Given the description of an element on the screen output the (x, y) to click on. 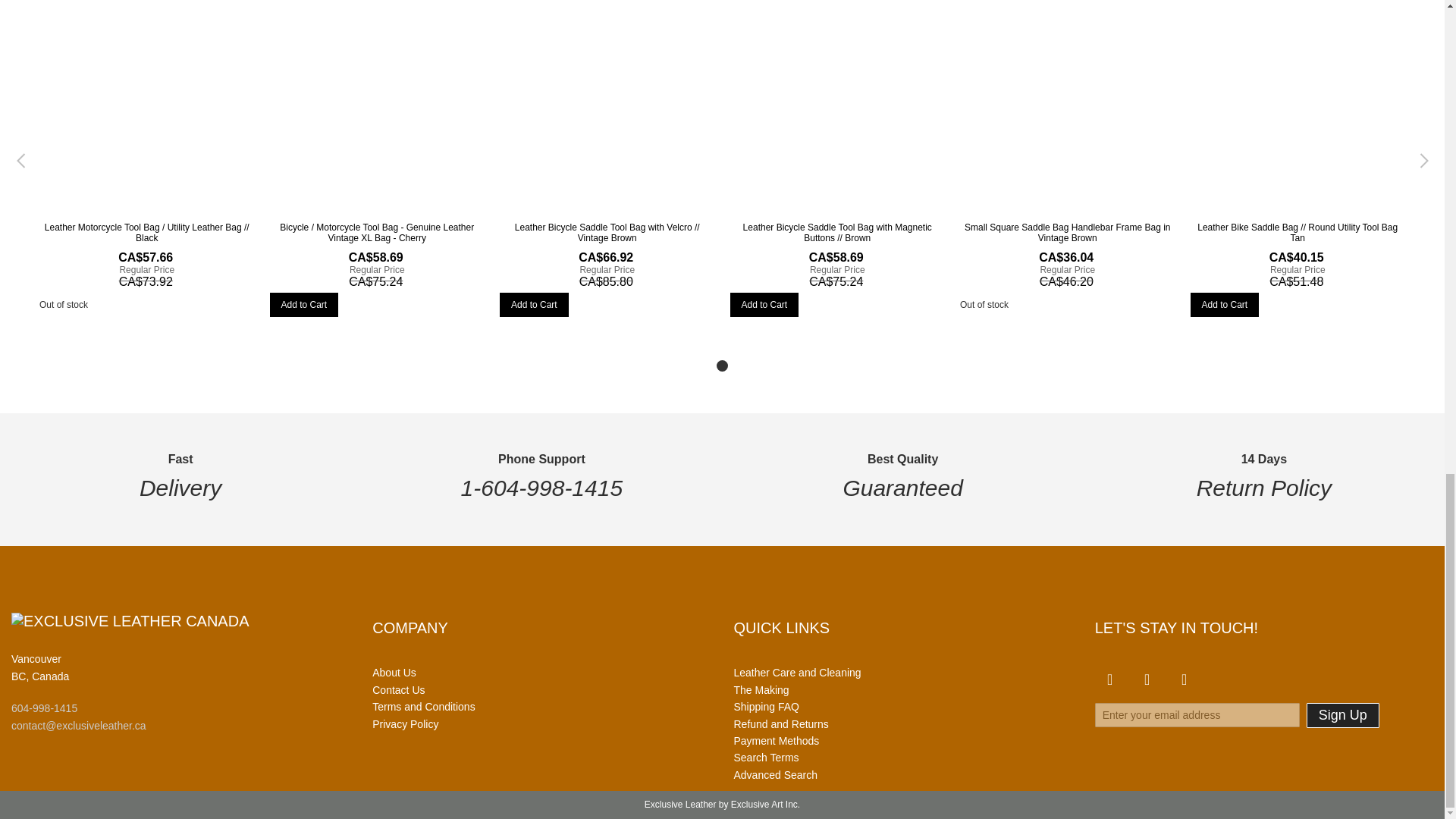
Leather Care and Cleaning (797, 672)
Add to Cart (304, 304)
Add to Cart (763, 304)
Add to Cart (534, 304)
Small Square Saddle Bag Handlebar Frame Bag in Vintage Brown (1066, 231)
The Making (761, 689)
Add to Cart (1225, 304)
